Given the description of an element on the screen output the (x, y) to click on. 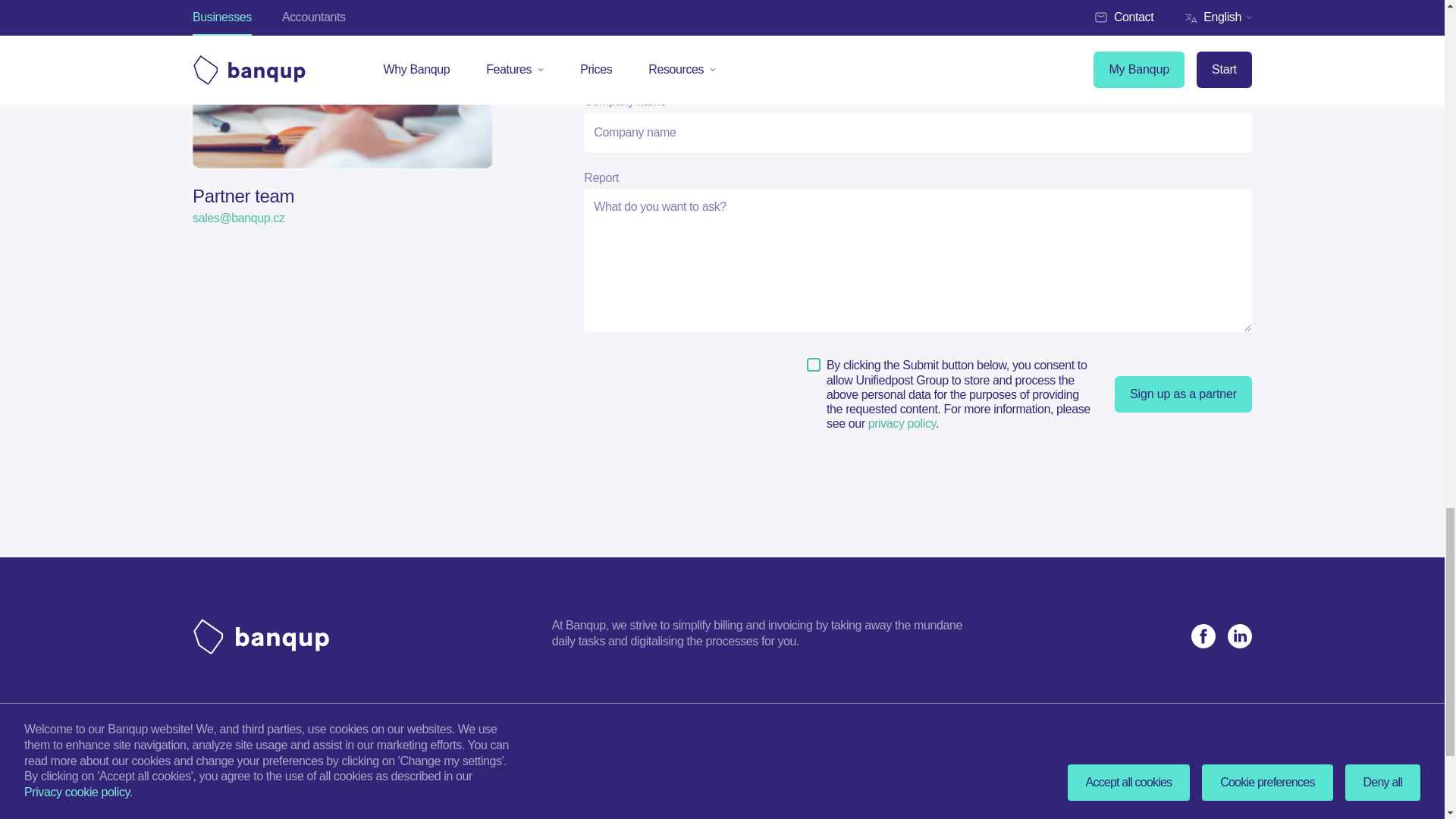
on (813, 364)
Sign up as a partner (1183, 393)
